Given the description of an element on the screen output the (x, y) to click on. 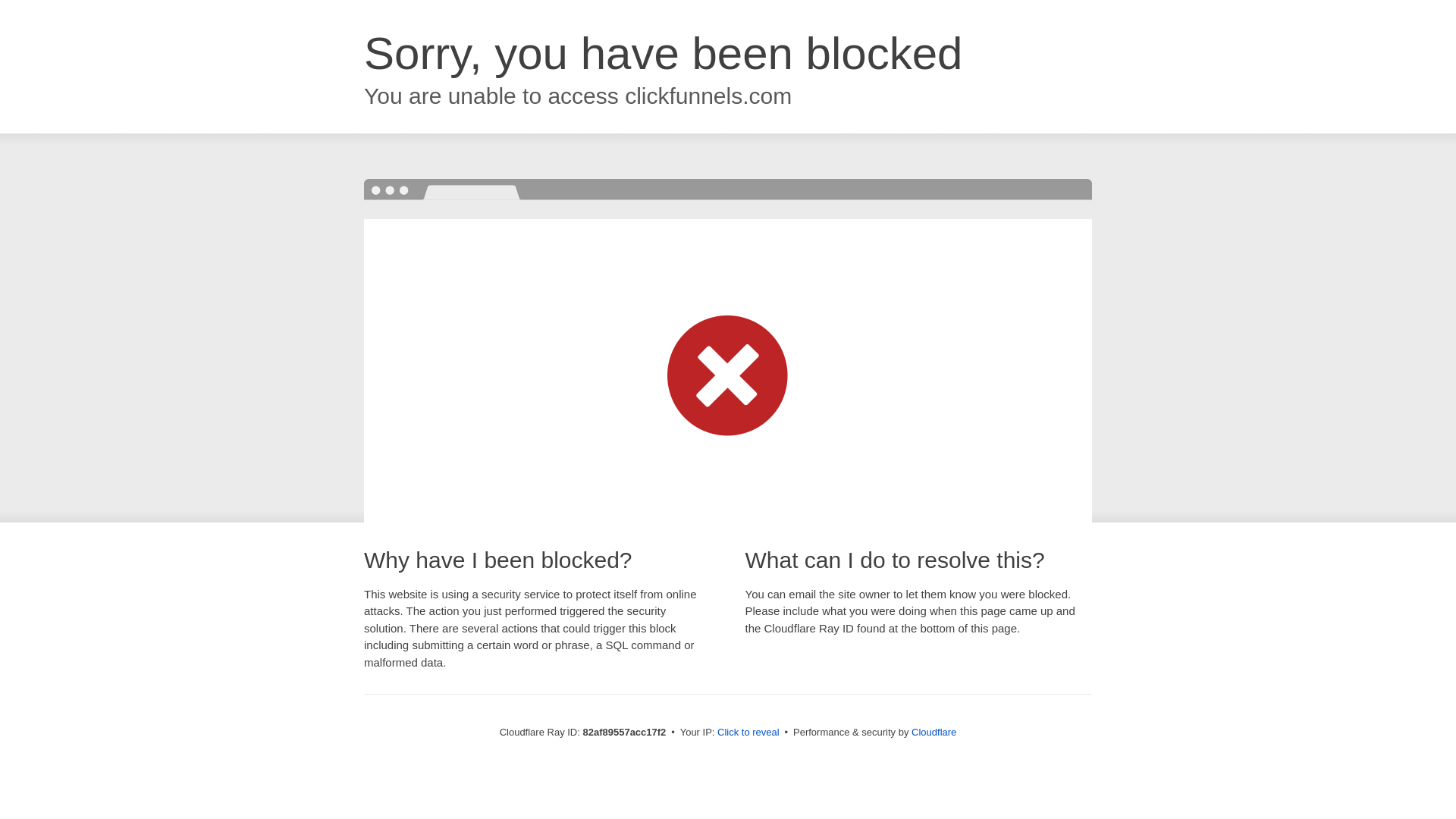
Cloudflare Element type: text (933, 731)
Click to reveal Element type: text (748, 732)
